Given the description of an element on the screen output the (x, y) to click on. 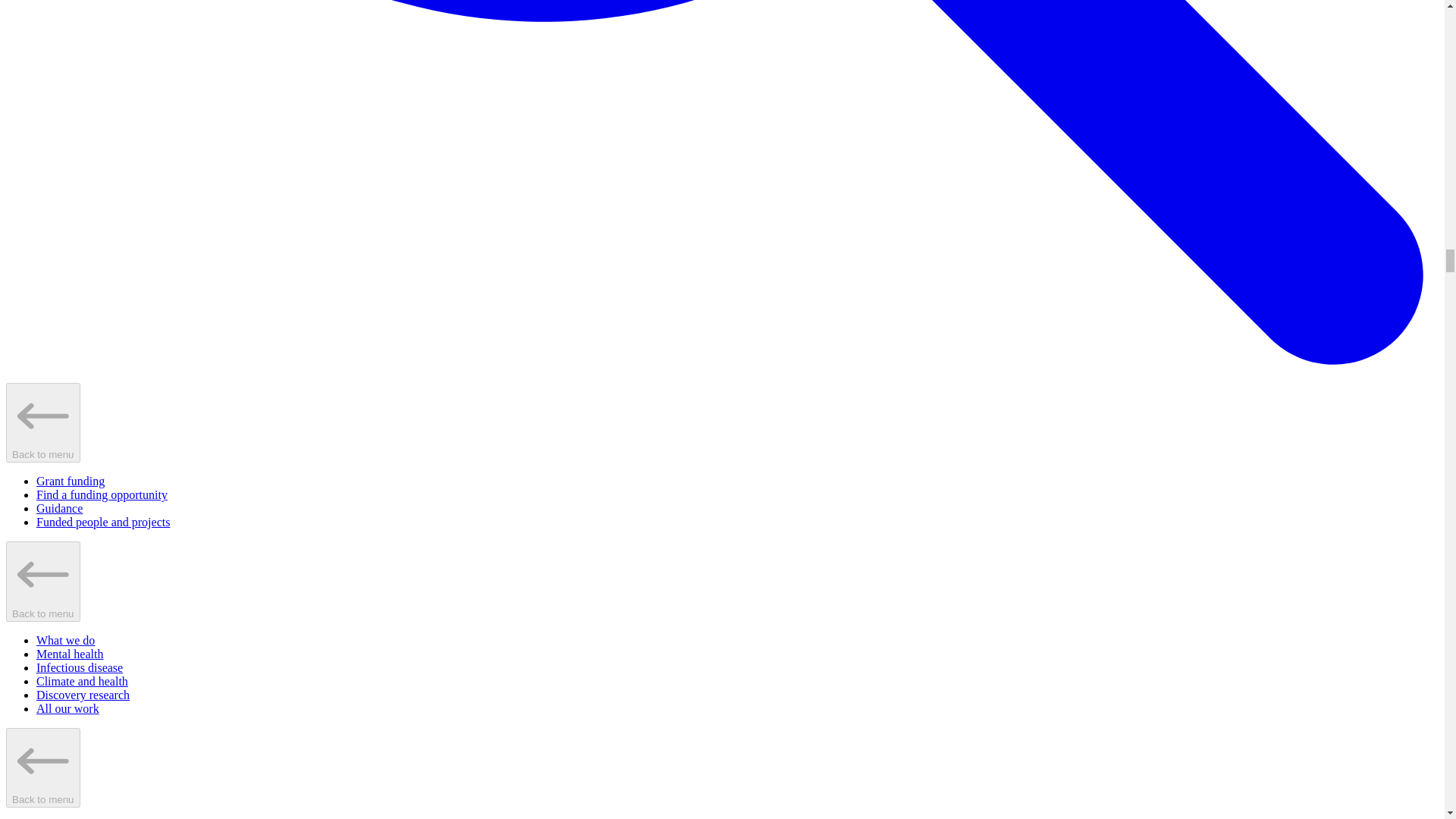
Guidance (59, 508)
Back to menu (42, 768)
Grant funding (70, 481)
Back to menu (42, 423)
What we do (65, 640)
Back to menu (42, 581)
Funded people and projects (103, 521)
All our work (67, 707)
Infectious disease (79, 667)
Discovery research (82, 694)
Find a funding opportunity (101, 494)
Mental health (69, 653)
Climate and health (82, 680)
